Given the description of an element on the screen output the (x, y) to click on. 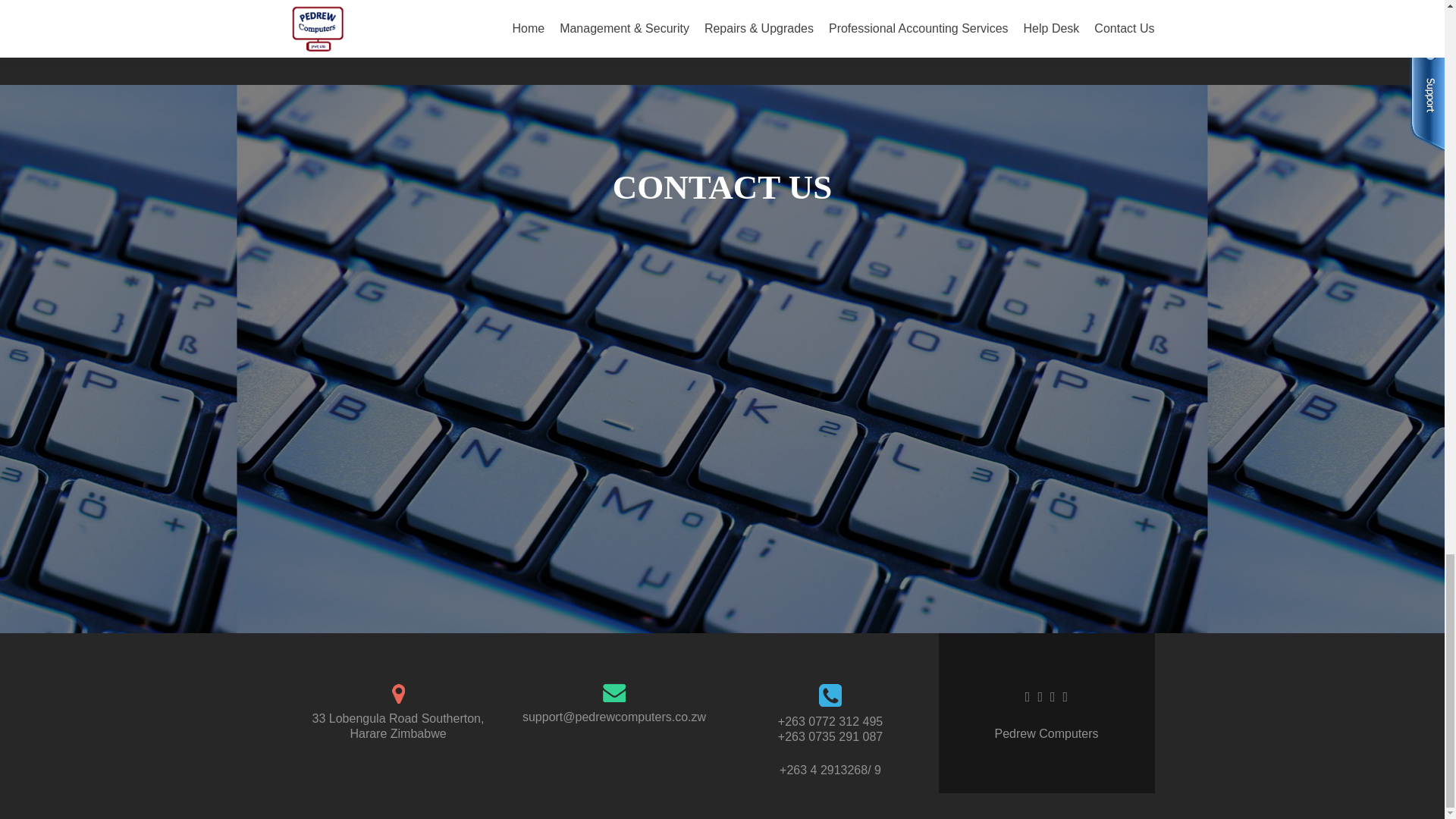
Pedrew Computers (1046, 733)
